Given the description of an element on the screen output the (x, y) to click on. 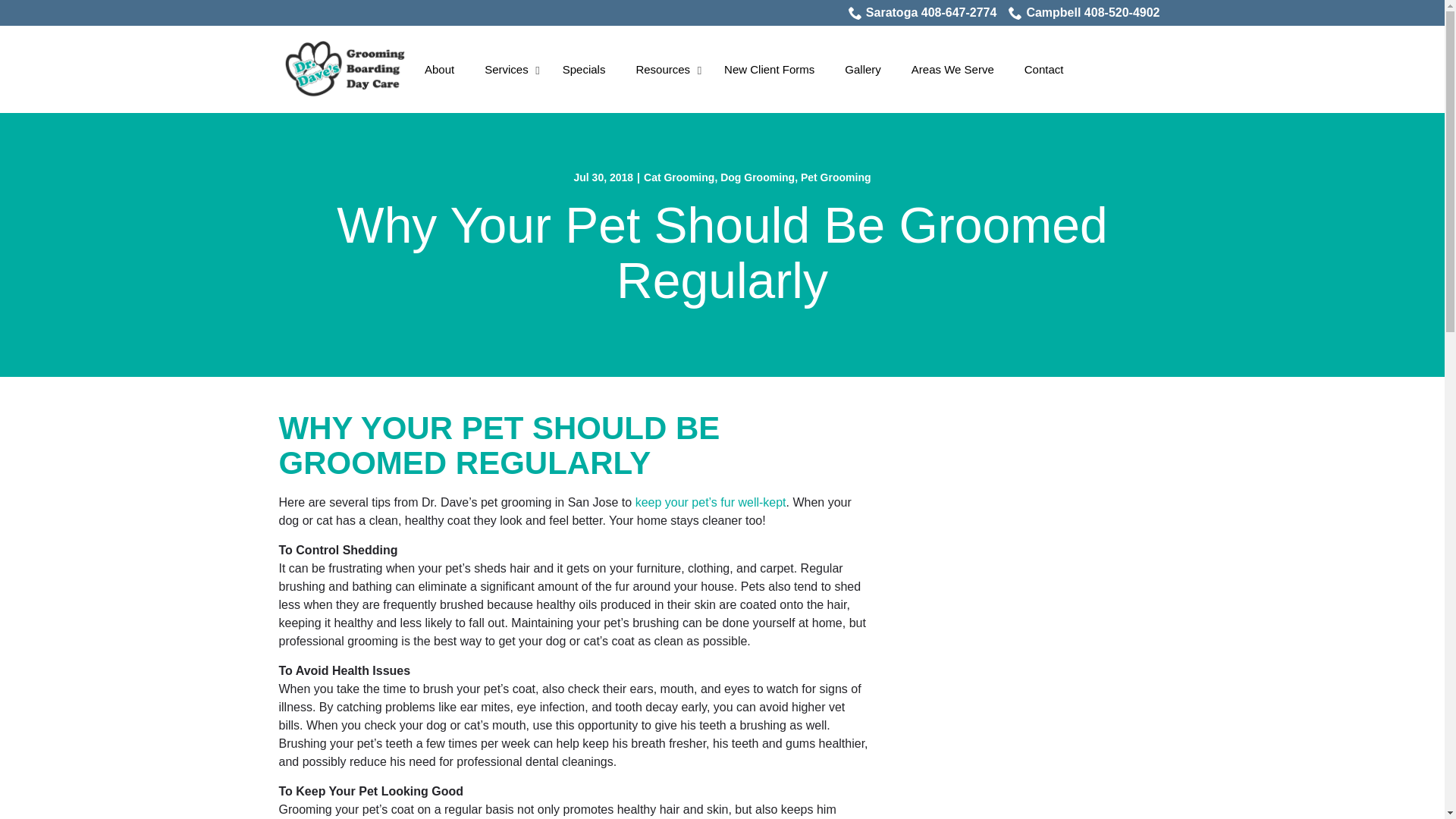
Saratoga 408-647-2774 (922, 13)
Resources (664, 69)
Services (507, 69)
Contact (1043, 69)
Campbell 408-520-4902 (1083, 13)
Areas We Serve (952, 69)
Gallery (862, 69)
New Client Forms (769, 69)
About (438, 69)
